Given the description of an element on the screen output the (x, y) to click on. 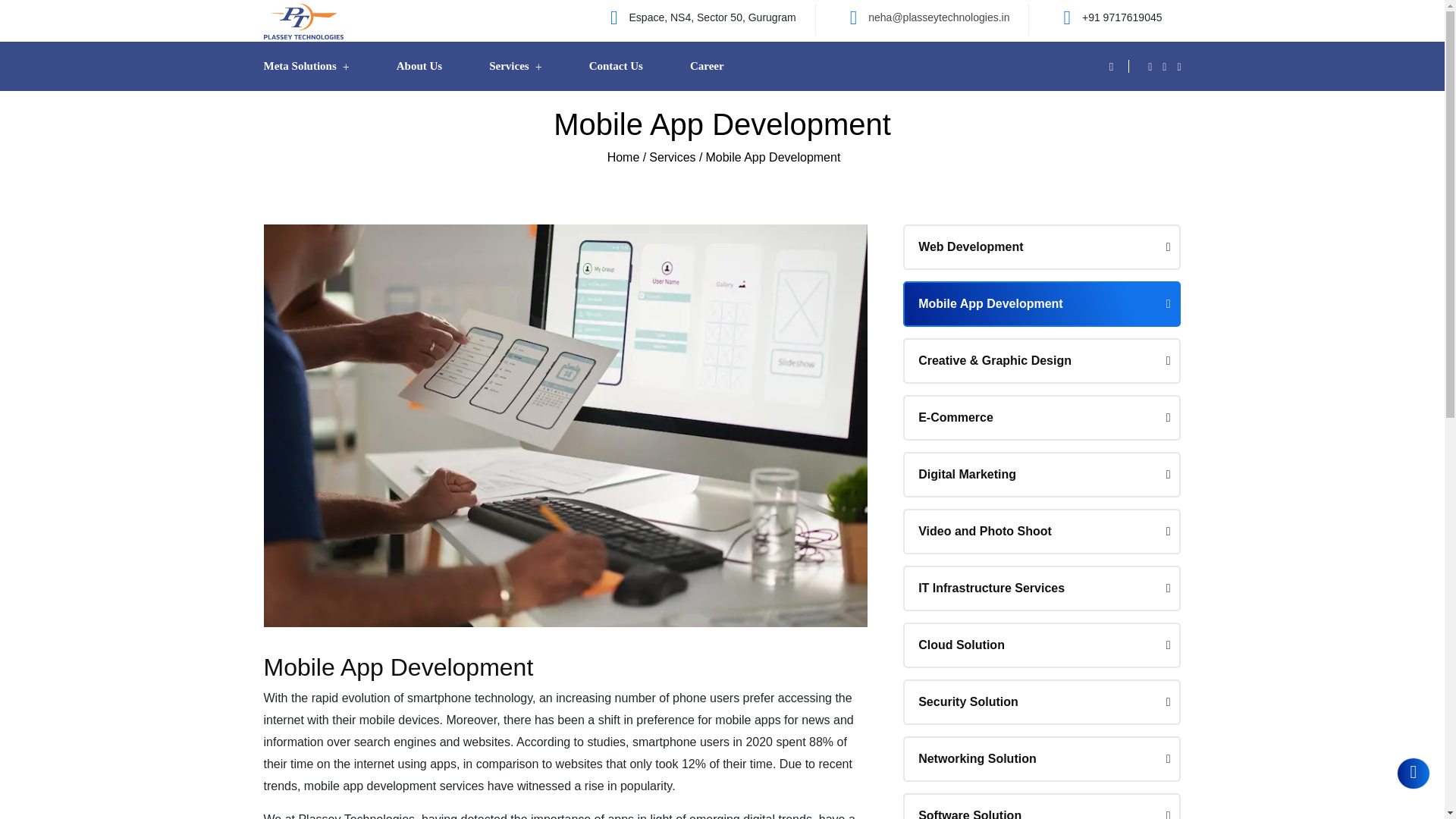
Services (515, 65)
About Us (419, 65)
Meta Solutions (306, 65)
